Given the description of an element on the screen output the (x, y) to click on. 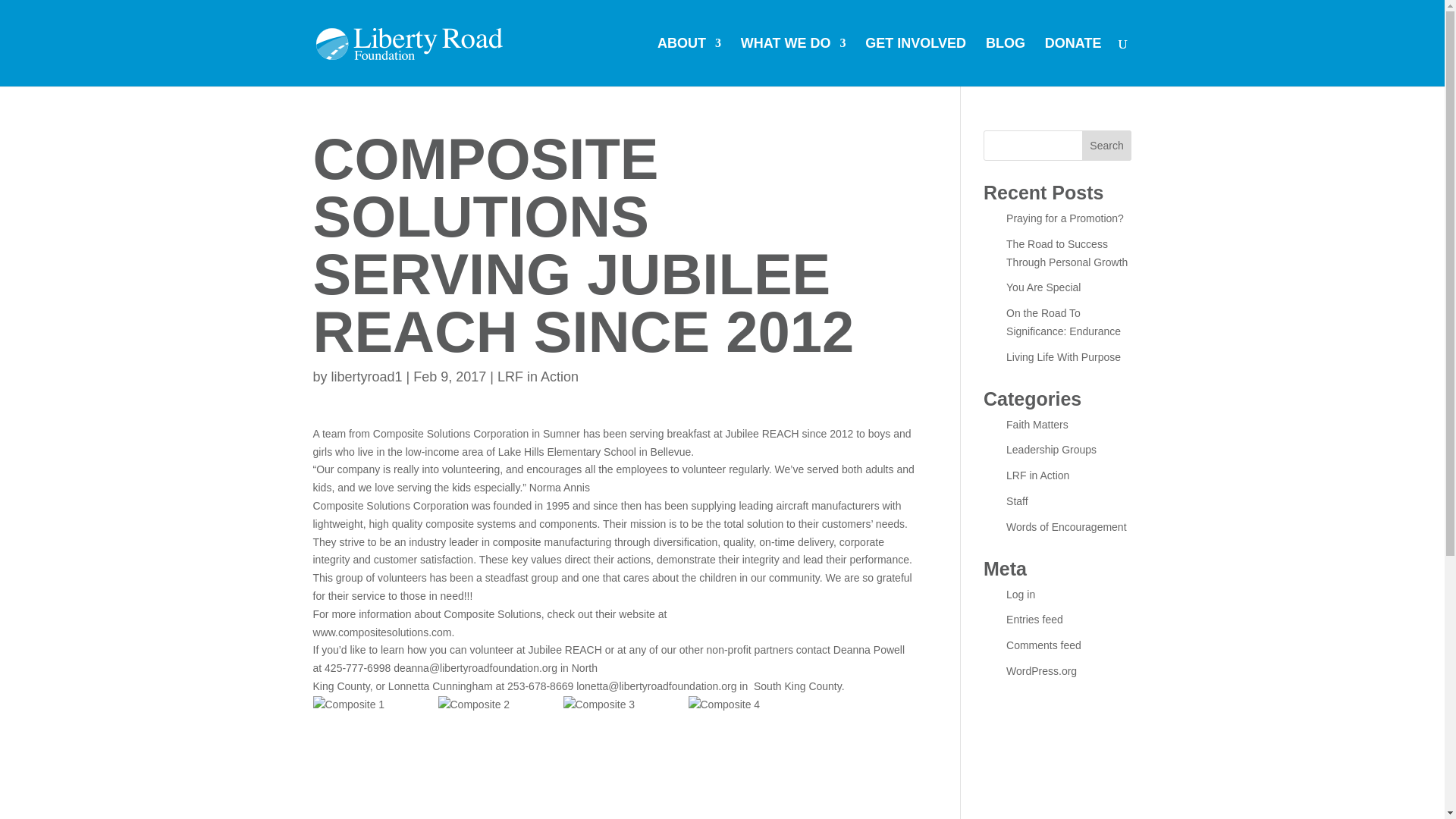
The Road to Success Through Personal Growth (1066, 253)
Search (1106, 145)
Posts by libertyroad1 (367, 376)
On the Road To Significance: Endurance (1063, 322)
GET INVOLVED (915, 61)
Living Life With Purpose (1063, 357)
Faith Matters (1037, 424)
ABOUT (689, 61)
libertyroad1 (367, 376)
Praying for a Promotion? (1065, 218)
